Given the description of an element on the screen output the (x, y) to click on. 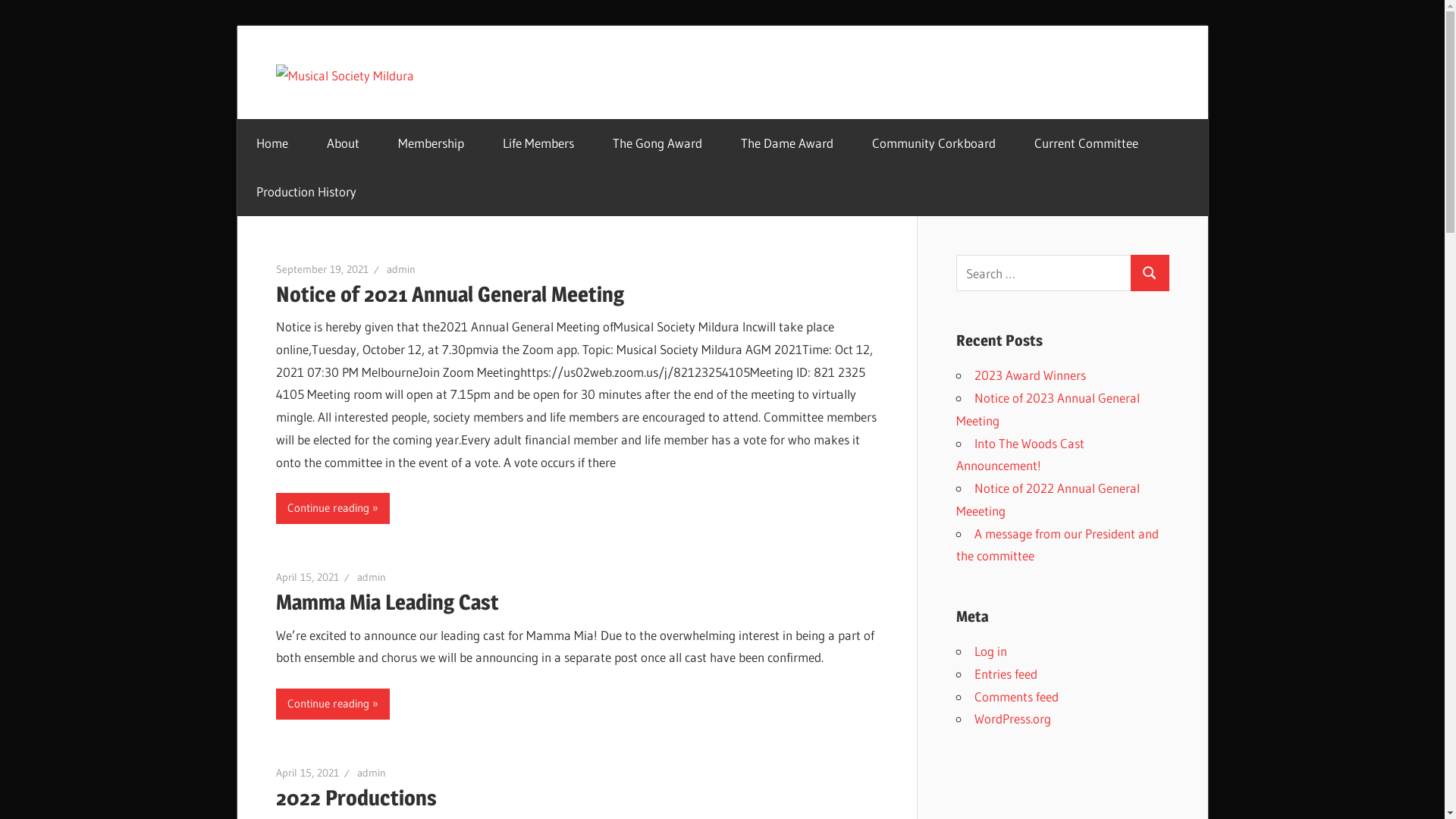
April 15, 2021 Element type: text (307, 576)
Production History Element type: text (305, 191)
Search for: Element type: hover (1043, 272)
Into The Woods Cast Announcement! Element type: text (1019, 454)
admin Element type: text (370, 772)
2022 Productions Element type: text (356, 797)
Current Committee Element type: text (1085, 143)
April 15, 2021 Element type: text (307, 772)
Notice of 2021 Annual General Meeting Element type: text (450, 293)
Comments feed Element type: text (1015, 696)
A message from our President and the committee Element type: text (1056, 544)
Membership Element type: text (431, 143)
Skip to content Element type: text (236, 25)
The Dame Award Element type: text (787, 143)
Continue reading Element type: text (332, 508)
Continue reading Element type: text (332, 703)
WordPress.org Element type: text (1011, 718)
Mamma Mia Leading Cast Element type: text (387, 602)
Notice of 2023 Annual General Meeting Element type: text (1047, 408)
Home Element type: text (271, 143)
admin Element type: text (400, 269)
2023 Award Winners Element type: text (1029, 374)
admin Element type: text (370, 576)
Notice of 2022 Annual General Meeeting Element type: text (1047, 499)
The Gong Award Element type: text (657, 143)
About Element type: text (343, 143)
Log in Element type: text (989, 650)
Life Members Element type: text (538, 143)
September 19, 2021 Element type: text (322, 269)
Community Corkboard Element type: text (933, 143)
Entries feed Element type: text (1004, 673)
